Given the description of an element on the screen output the (x, y) to click on. 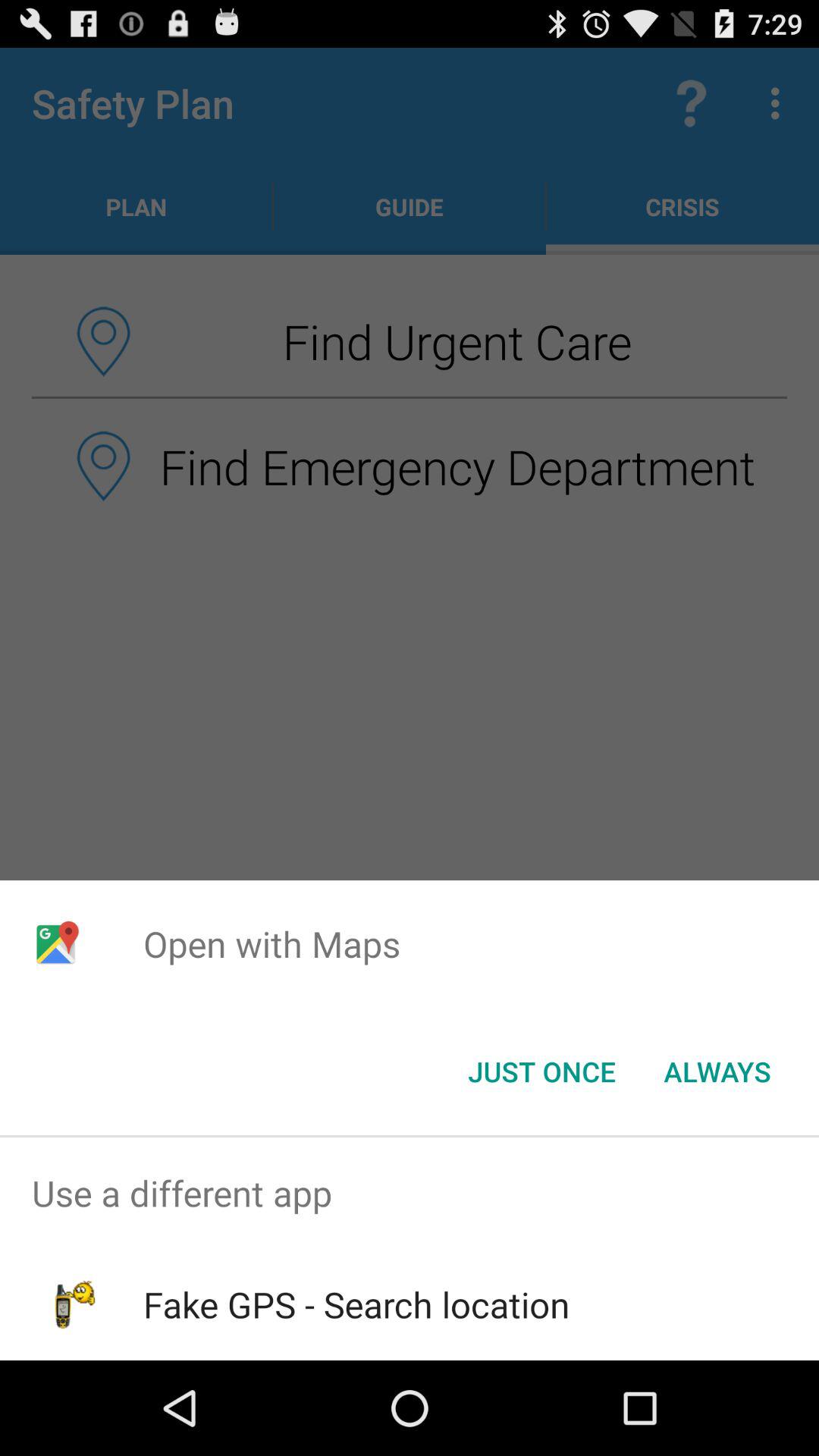
scroll until the always (717, 1071)
